Given the description of an element on the screen output the (x, y) to click on. 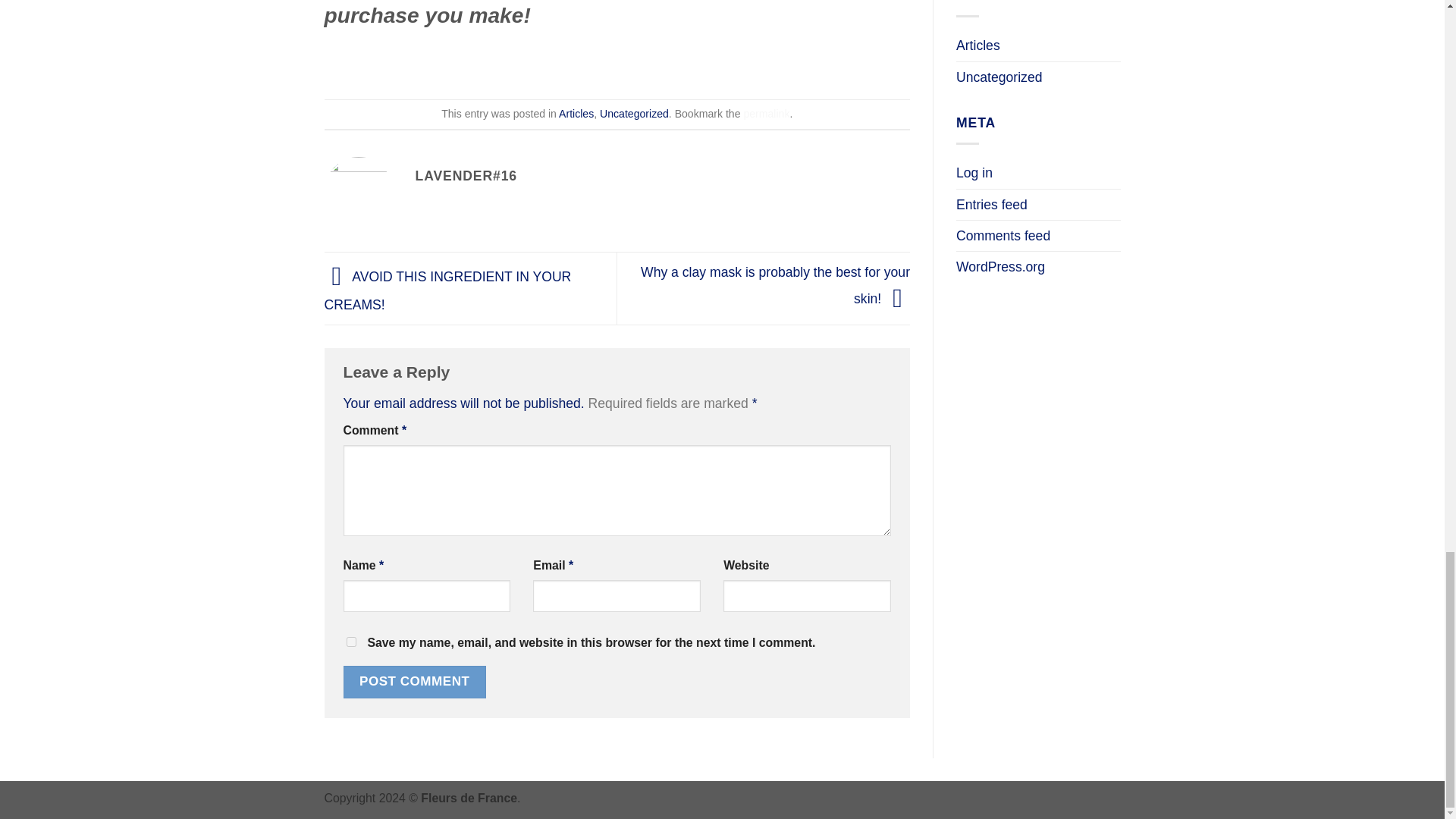
Articles (576, 113)
Why a clay mask is probably the best for your skin! (775, 284)
Post Comment (413, 681)
Uncategorized (633, 113)
AVOID THIS INGREDIENT IN YOUR CREAMS! (448, 290)
permalink (765, 113)
yes (350, 642)
Post Comment (413, 681)
